Given the description of an element on the screen output the (x, y) to click on. 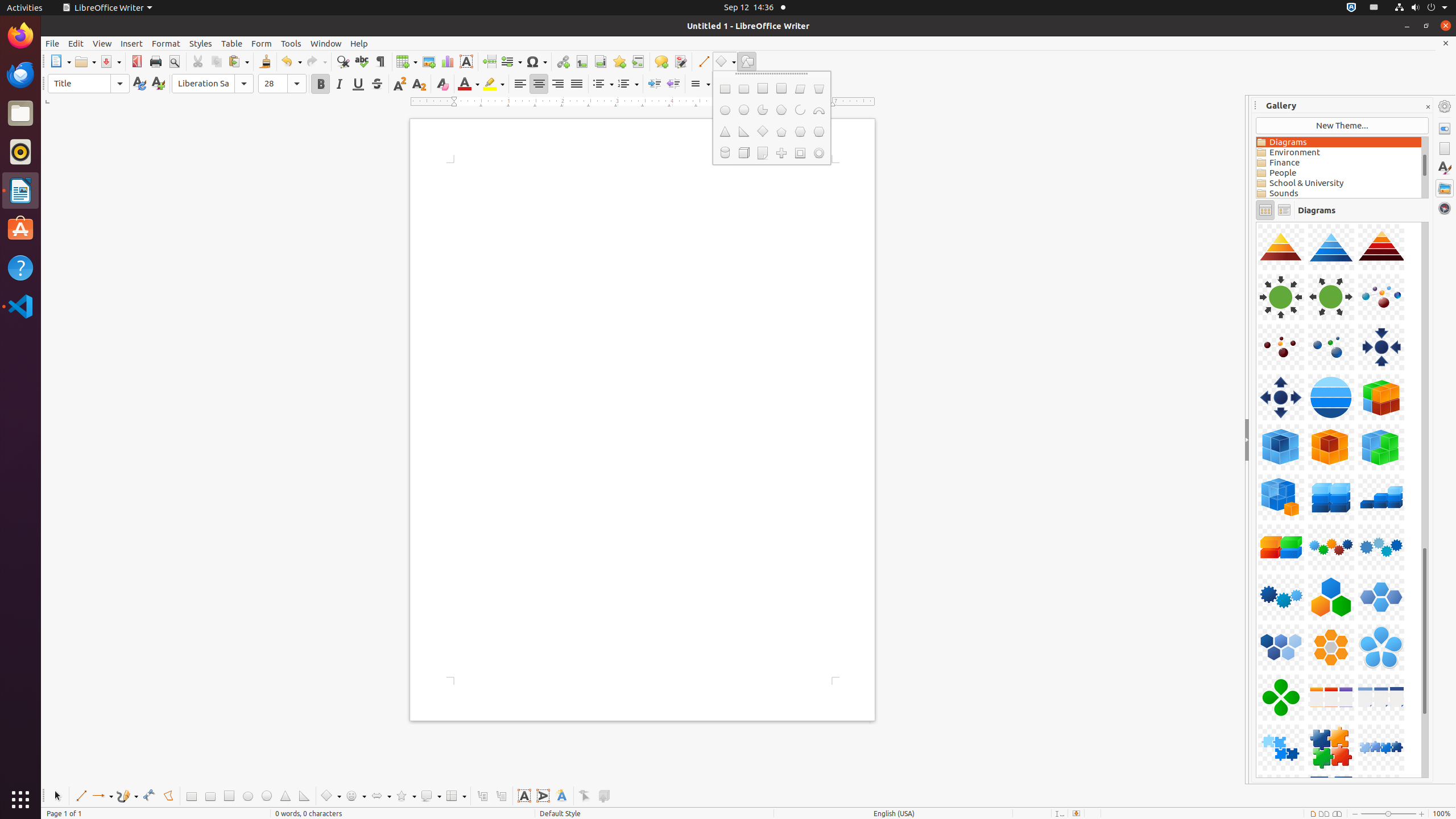
Component-Cube01-DarkBlue Element type: list-item (1256, 222)
Styles Element type: menu (200, 43)
Lines and Arrows Element type: push-button (101, 795)
Track Changes Functions Element type: toggle-button (679, 61)
Gallery Element type: radio-button (1444, 188)
